Given the description of an element on the screen output the (x, y) to click on. 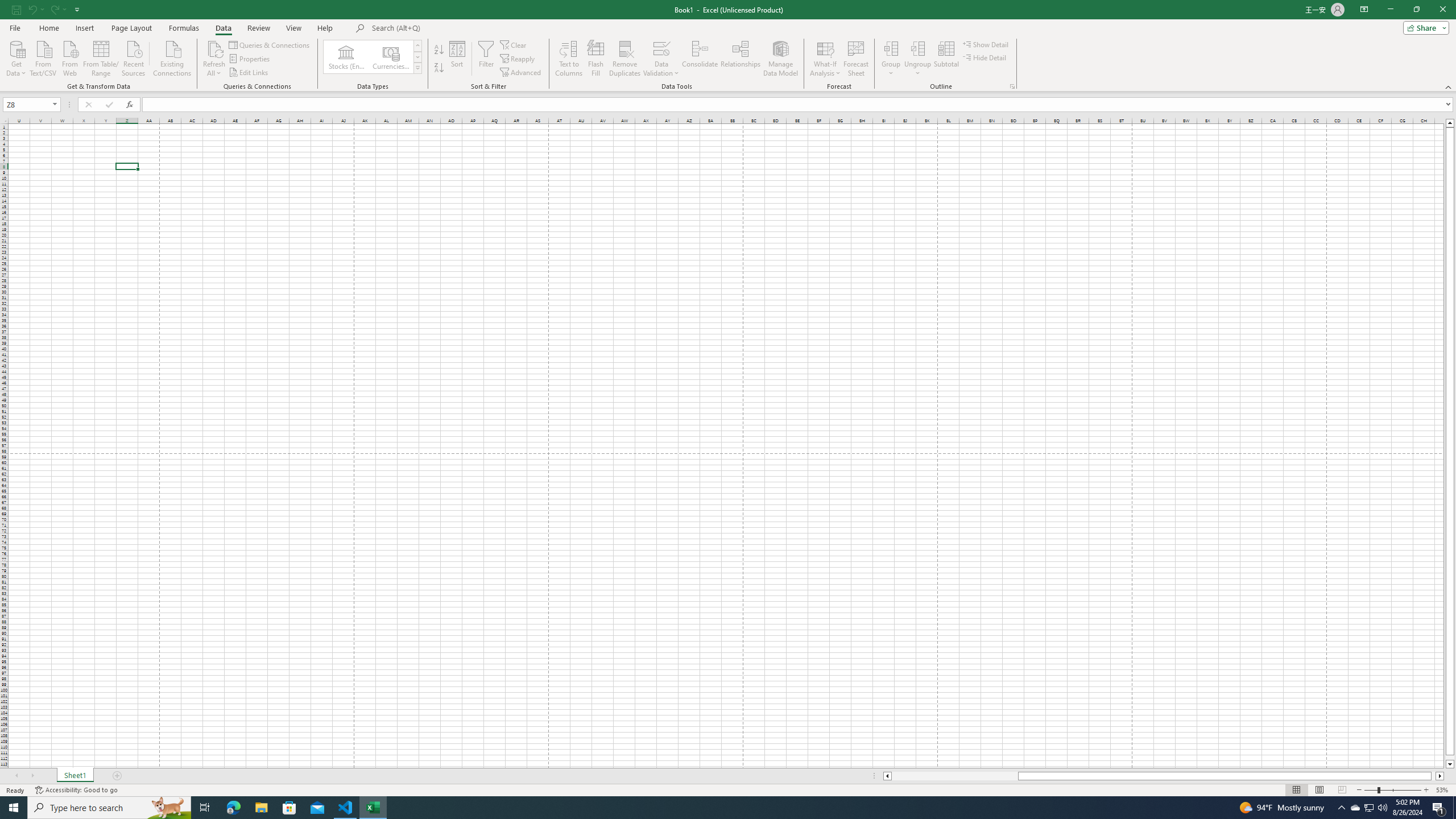
Column left (886, 775)
Line down (1449, 764)
Formulas (184, 28)
Text to Columns... (568, 58)
Insert (83, 28)
Collapse the Ribbon (1448, 86)
